Given the description of an element on the screen output the (x, y) to click on. 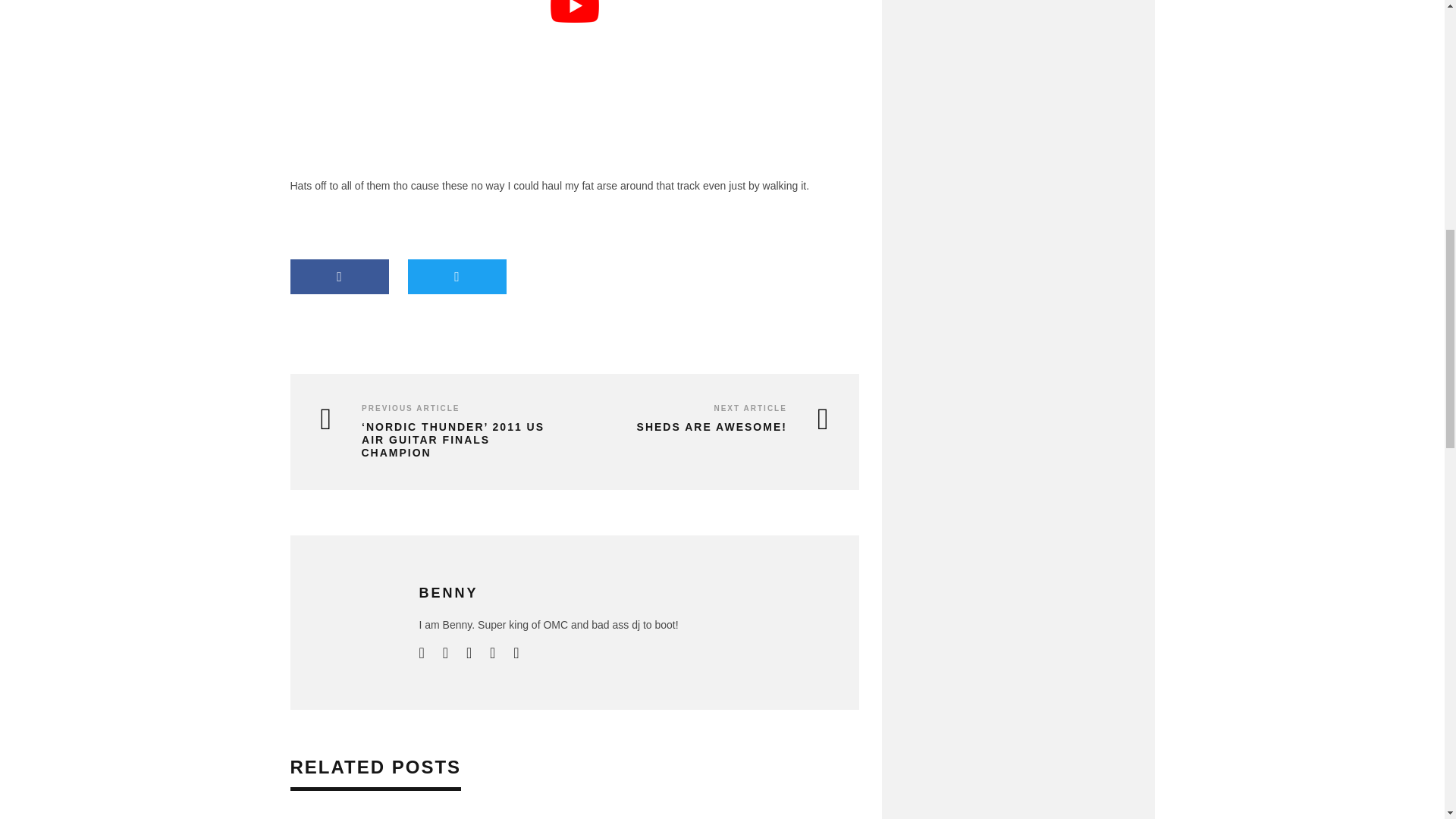
Embed Player (1017, 12)
